Given the description of an element on the screen output the (x, y) to click on. 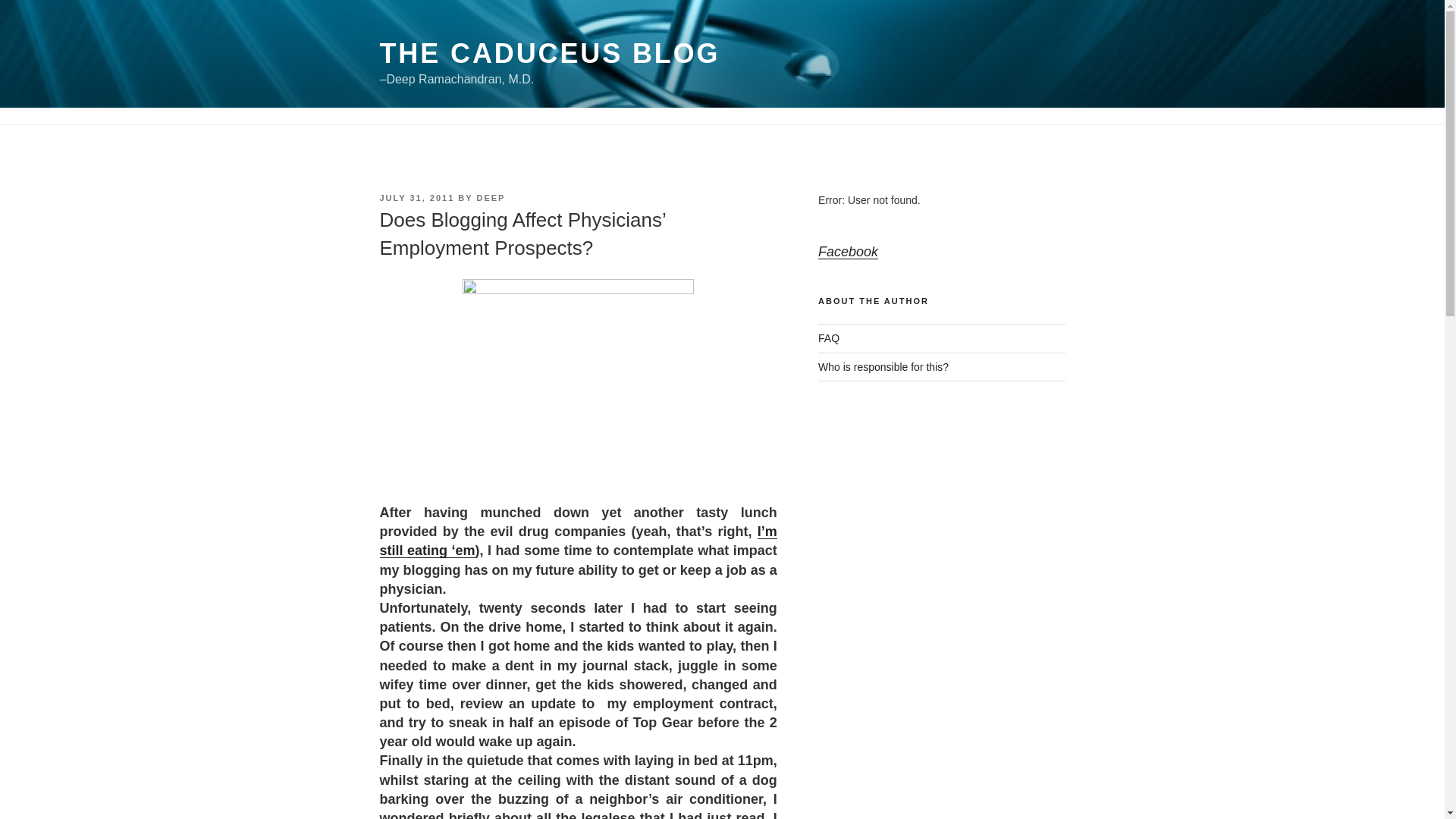
Who is responsible for this? (883, 367)
DEEP (490, 197)
JULY 31, 2011 (416, 197)
Facebook (847, 251)
Pharma Lunch Money Spending (577, 540)
FAQ (829, 337)
THE CADUCEUS BLOG (548, 52)
